Given the description of an element on the screen output the (x, y) to click on. 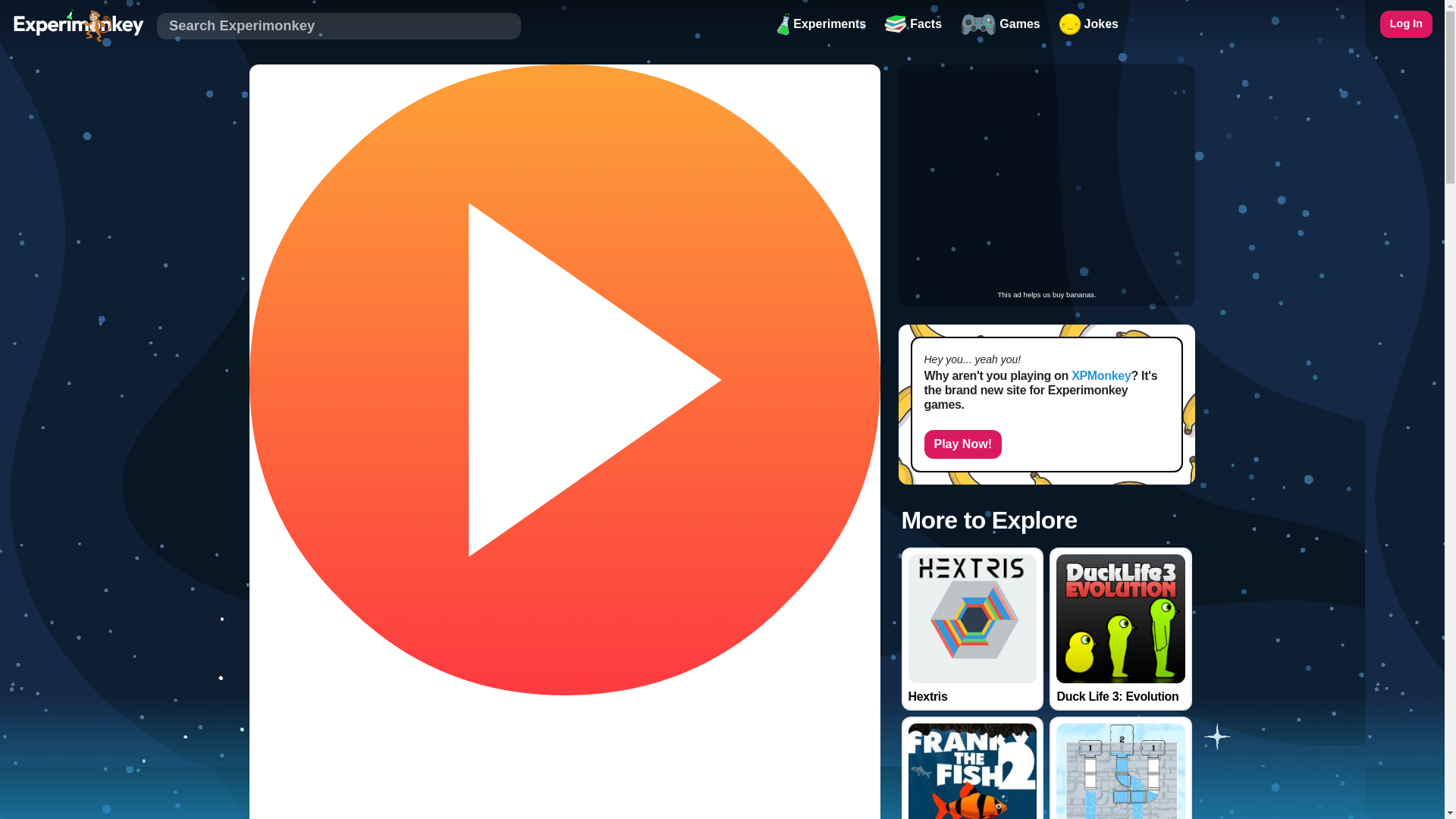
Experiments (821, 24)
Games (999, 24)
Jokes (1088, 24)
Experimonkey Homepage (77, 24)
Facts (912, 24)
Play on XPMonkey! (962, 443)
Play Now! (962, 443)
Log In (1406, 23)
Find something banan-tastic! (339, 25)
Advertisement (1046, 178)
Log in (1406, 23)
XPMonkey (1101, 375)
